Given the description of an element on the screen output the (x, y) to click on. 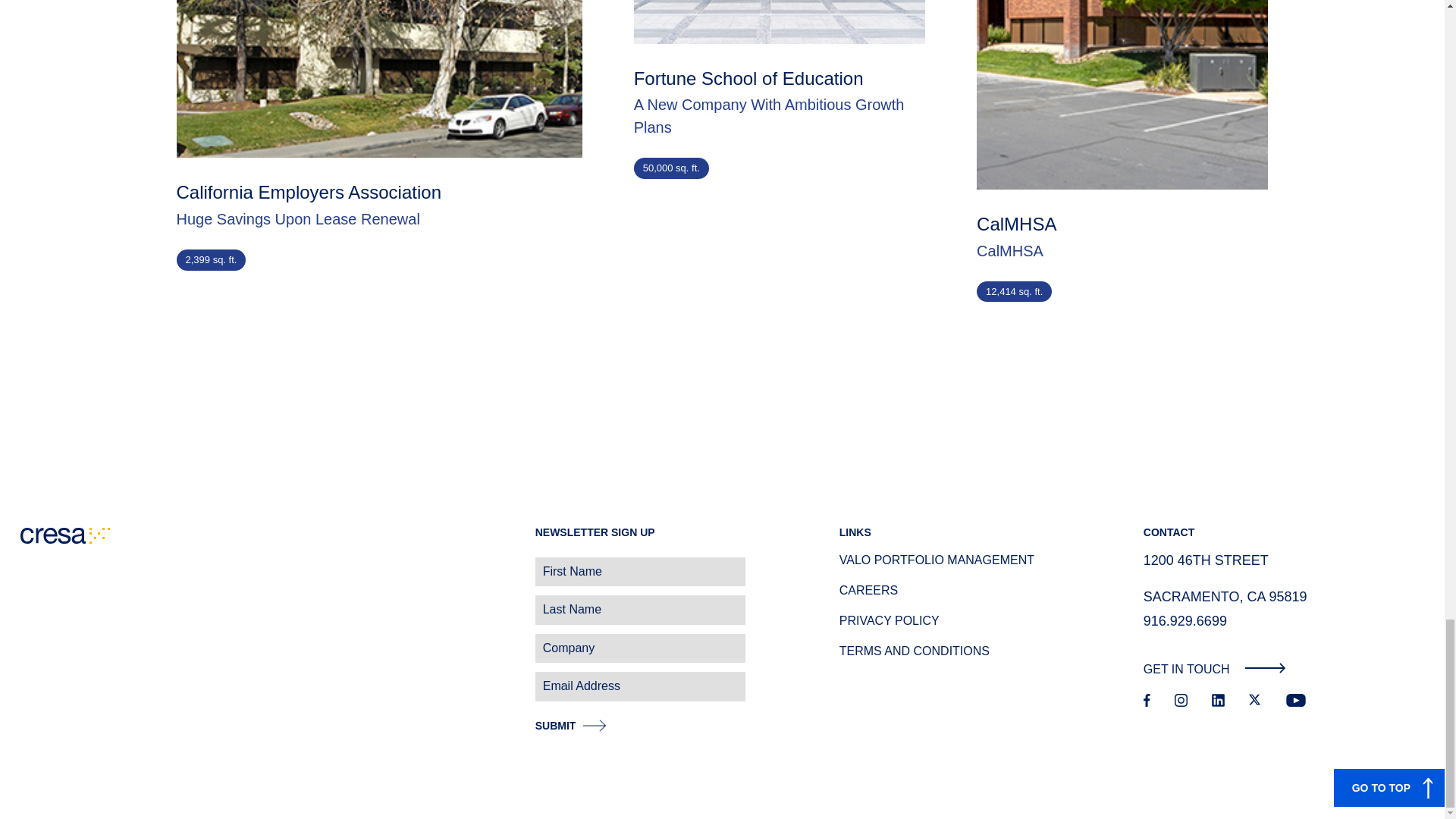
ARROW SMALL (1264, 667)
